Given the description of an element on the screen output the (x, y) to click on. 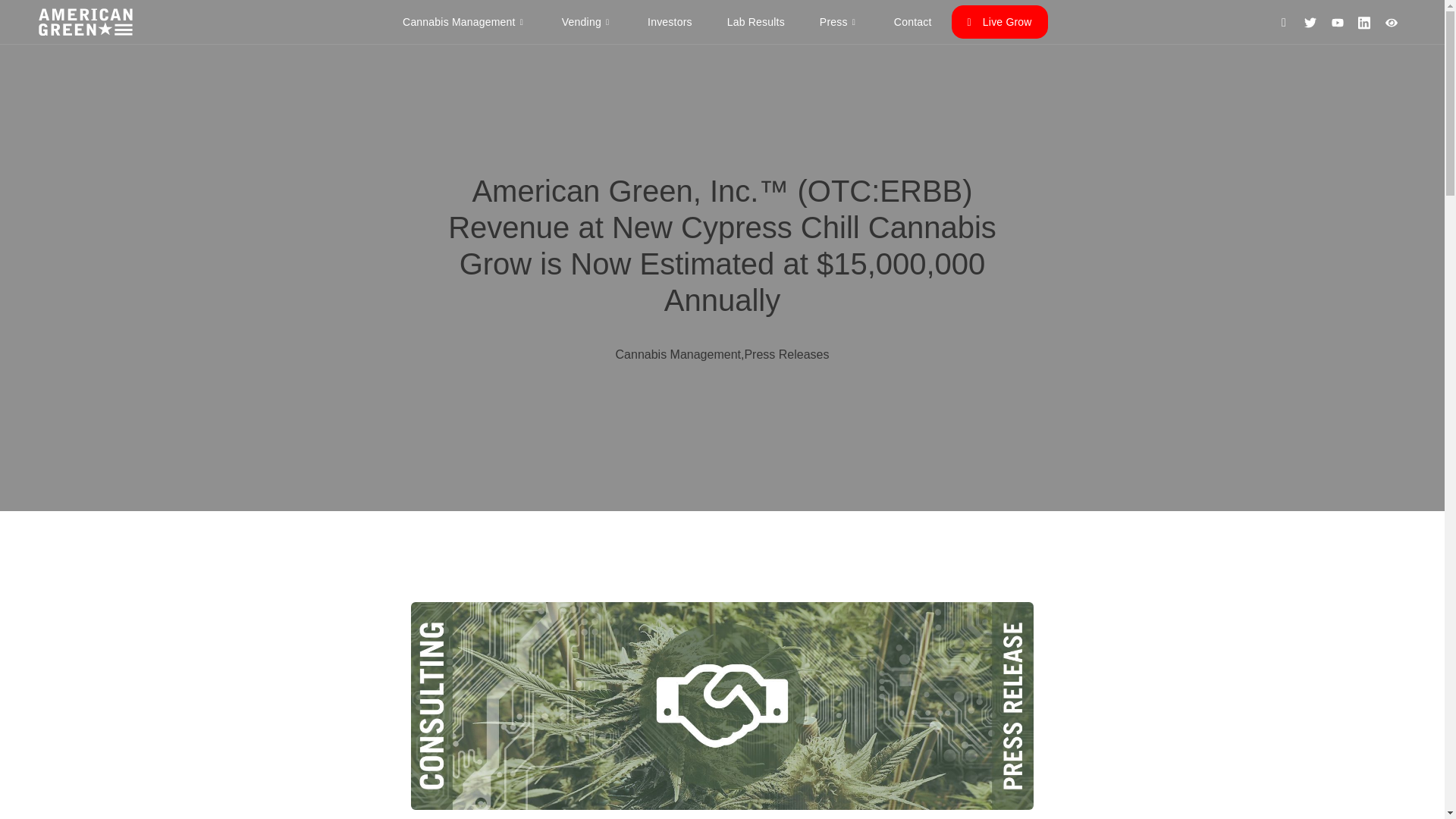
Cannabis Management (464, 21)
Live Grow (1000, 21)
Vending (587, 21)
Press (840, 21)
Investors (669, 21)
consulting-cover-web (721, 705)
Lab Results (755, 21)
Contact (913, 21)
